Given the description of an element on the screen output the (x, y) to click on. 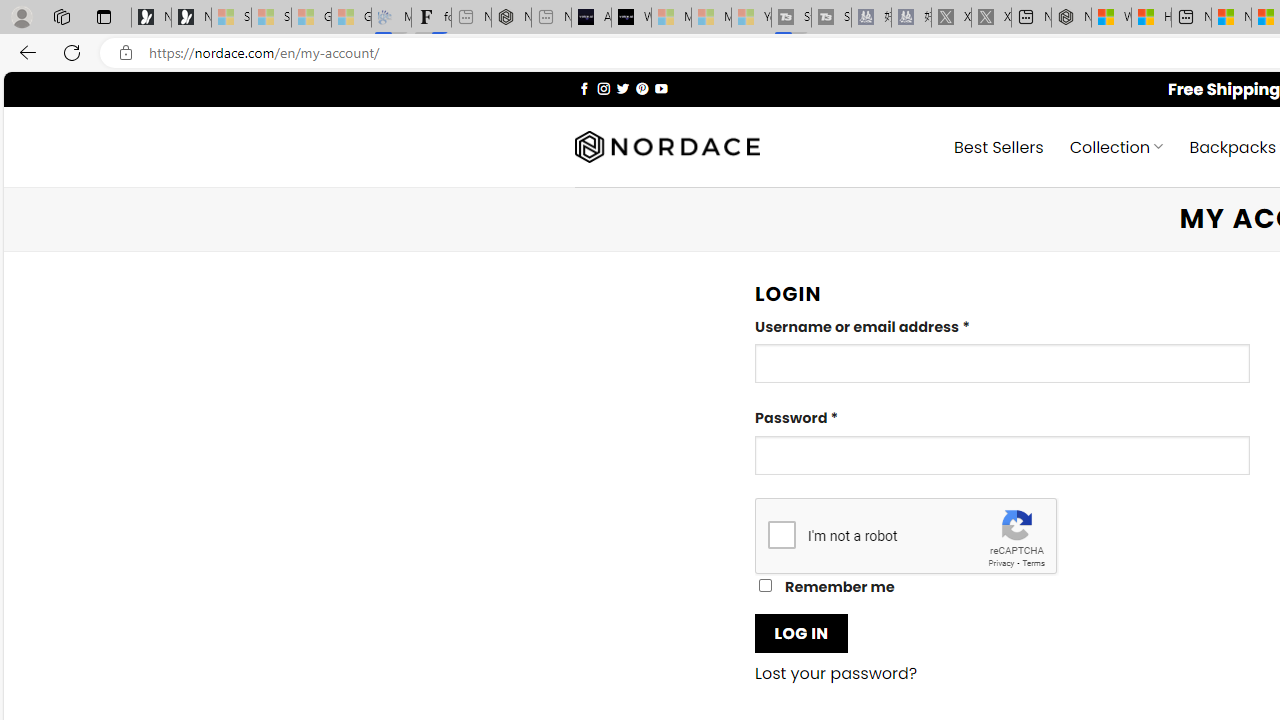
New tab - Sleeping (551, 17)
Nordace (667, 147)
Follow on Facebook (584, 88)
